Given the description of an element on the screen output the (x, y) to click on. 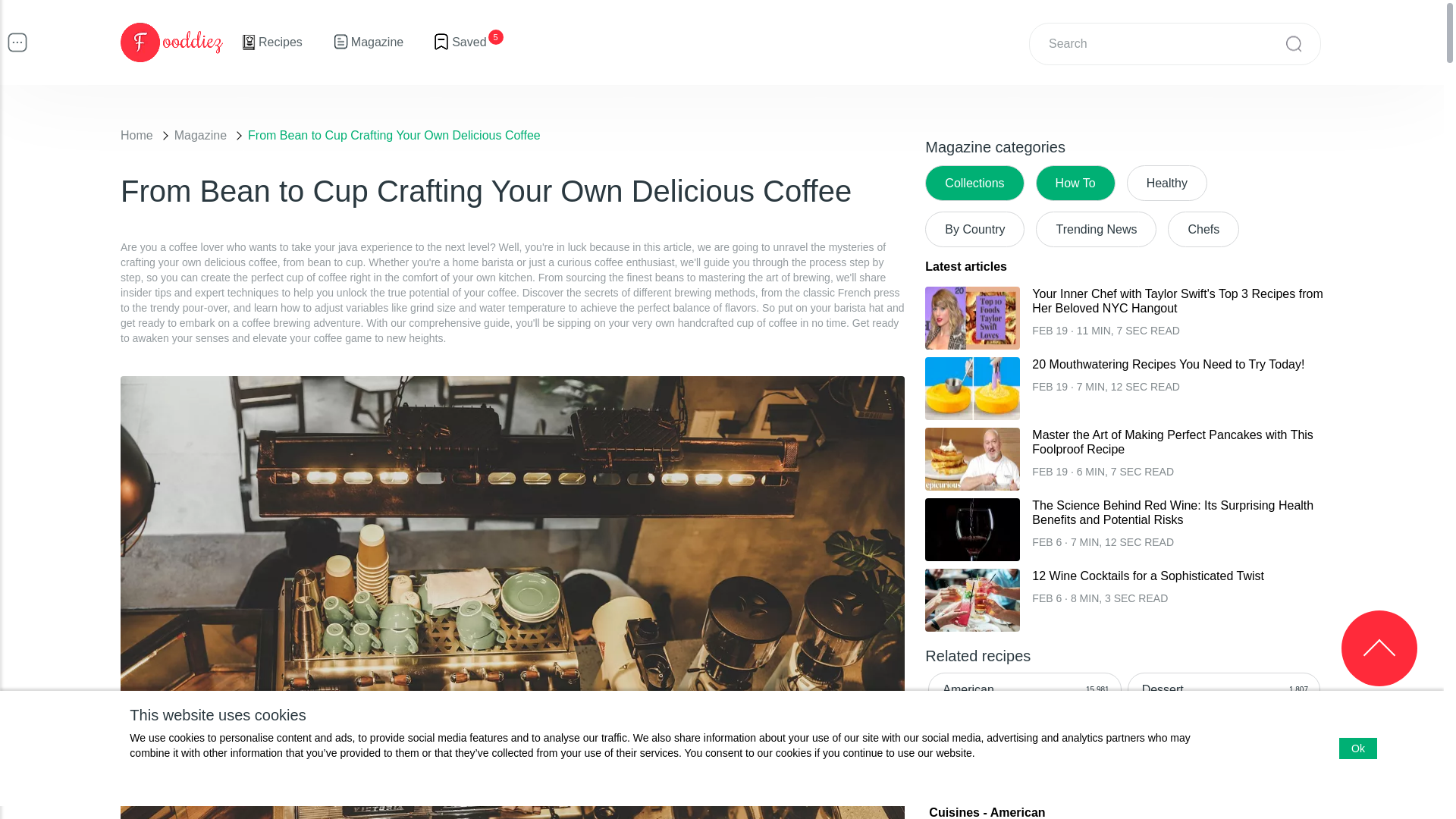
Magazine (200, 134)
From Bean to Cup Crafting Your Own Delicious Coffee (393, 134)
Home (136, 134)
